Given the description of an element on the screen output the (x, y) to click on. 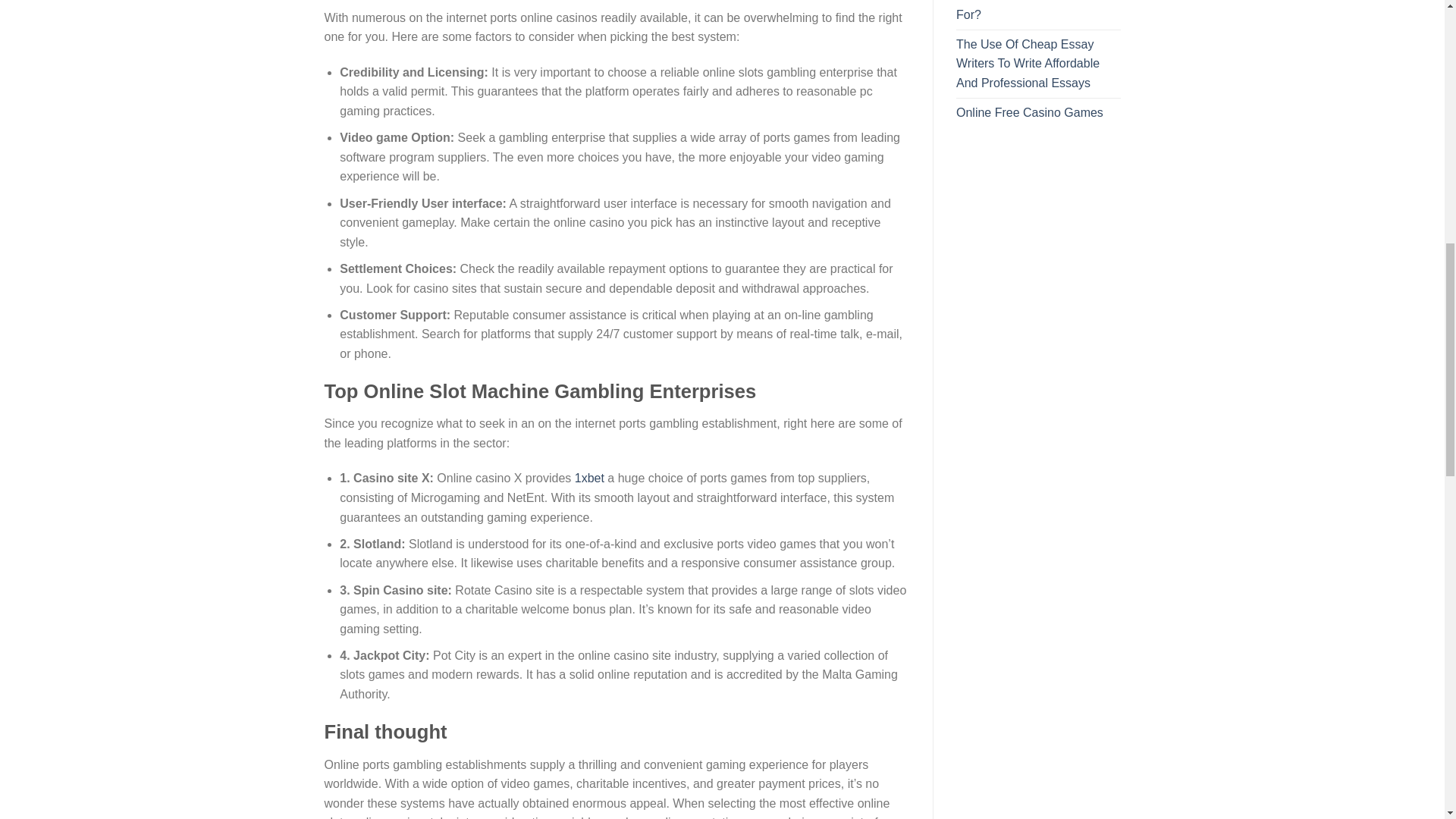
1xbet (589, 477)
